Given the description of an element on the screen output the (x, y) to click on. 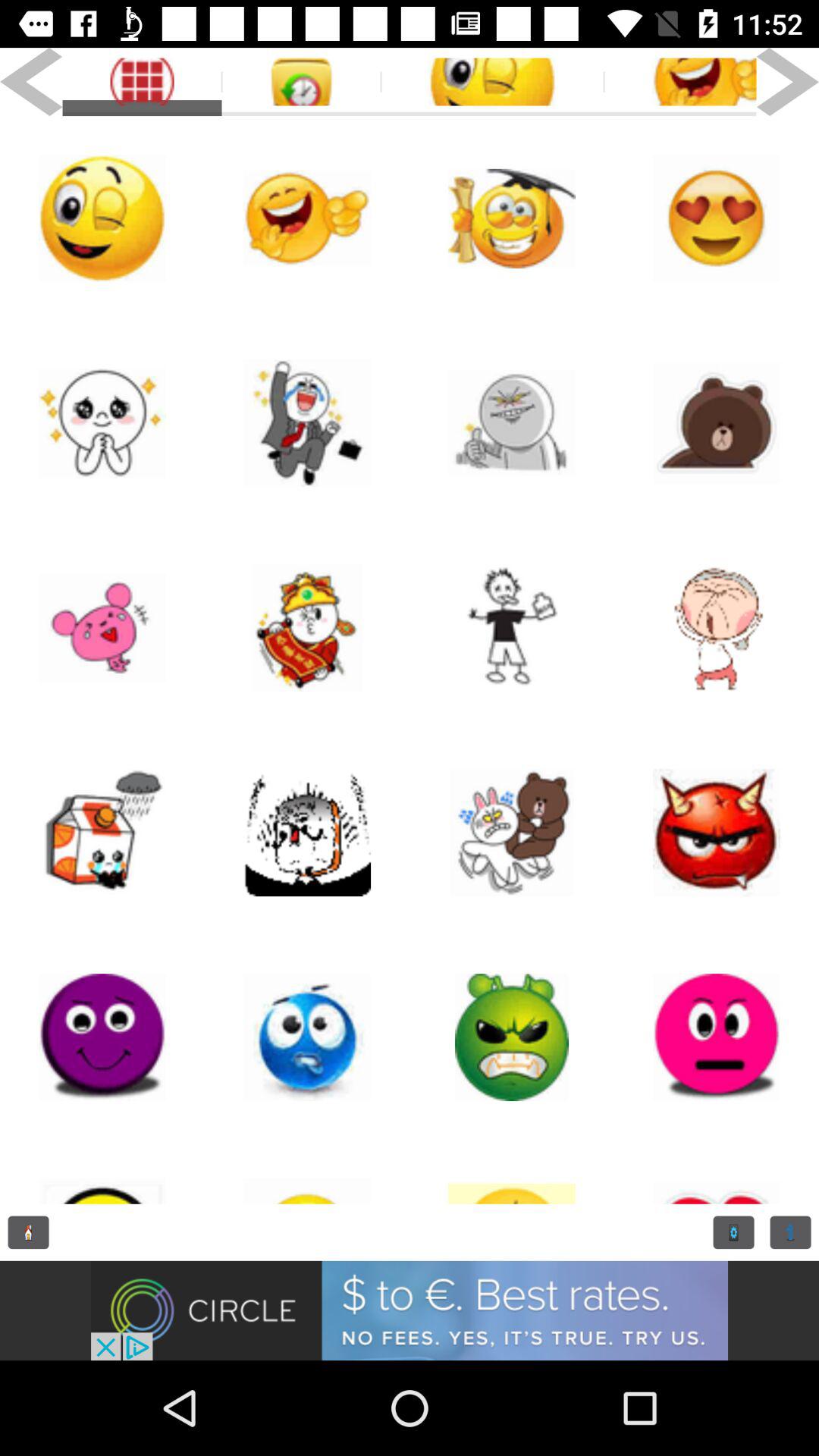
counting option (790, 1232)
